Given the description of an element on the screen output the (x, y) to click on. 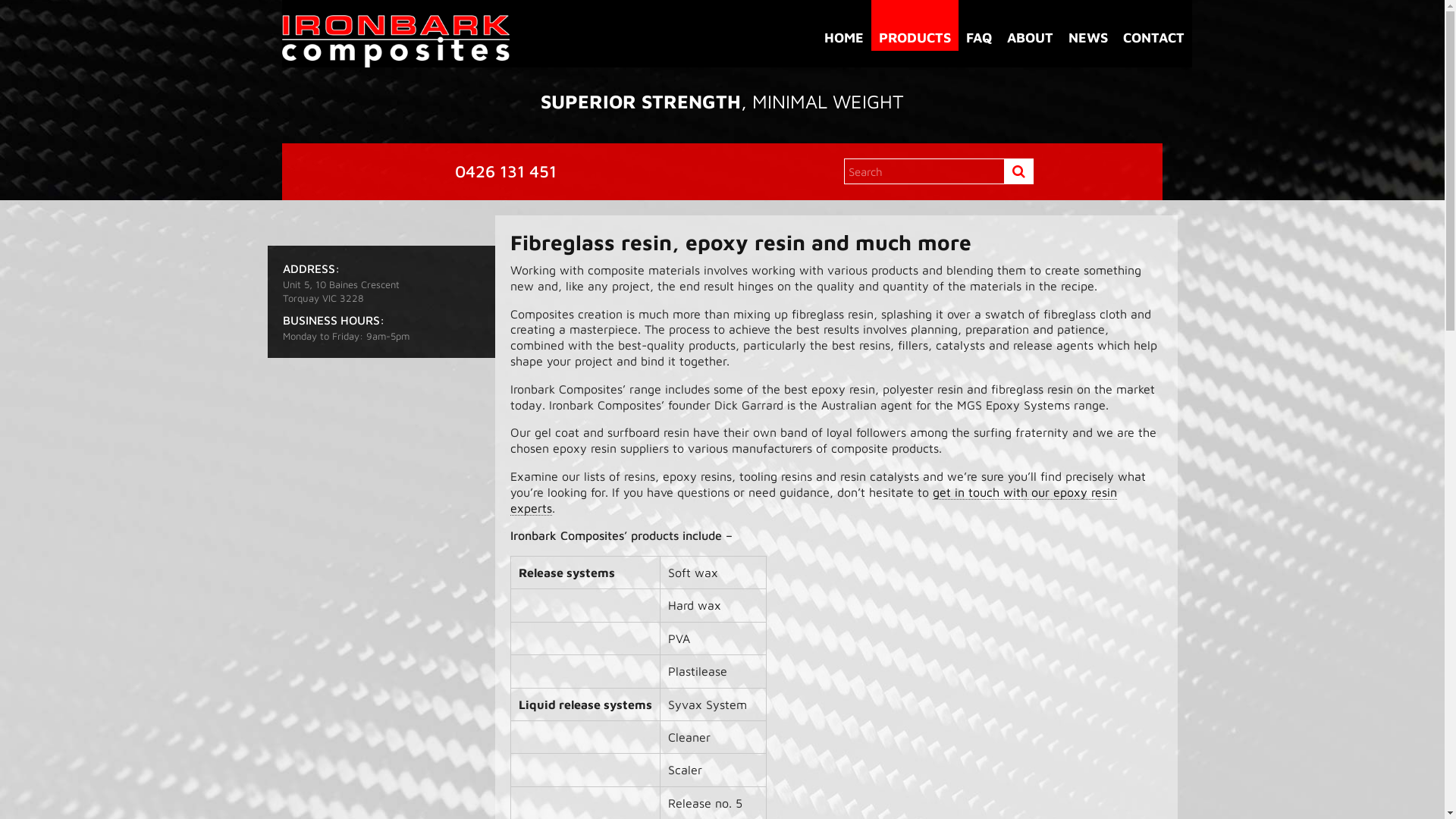
HOME Element type: text (843, 25)
FAQ Element type: text (978, 25)
ABOUT Element type: text (1029, 25)
PRODUCTS Element type: text (914, 25)
get in touch with our epoxy resin experts Element type: text (812, 500)
Search for: Element type: hover (938, 172)
CONTACT Element type: text (1153, 25)
NEWS Element type: text (1087, 25)
